Given the description of an element on the screen output the (x, y) to click on. 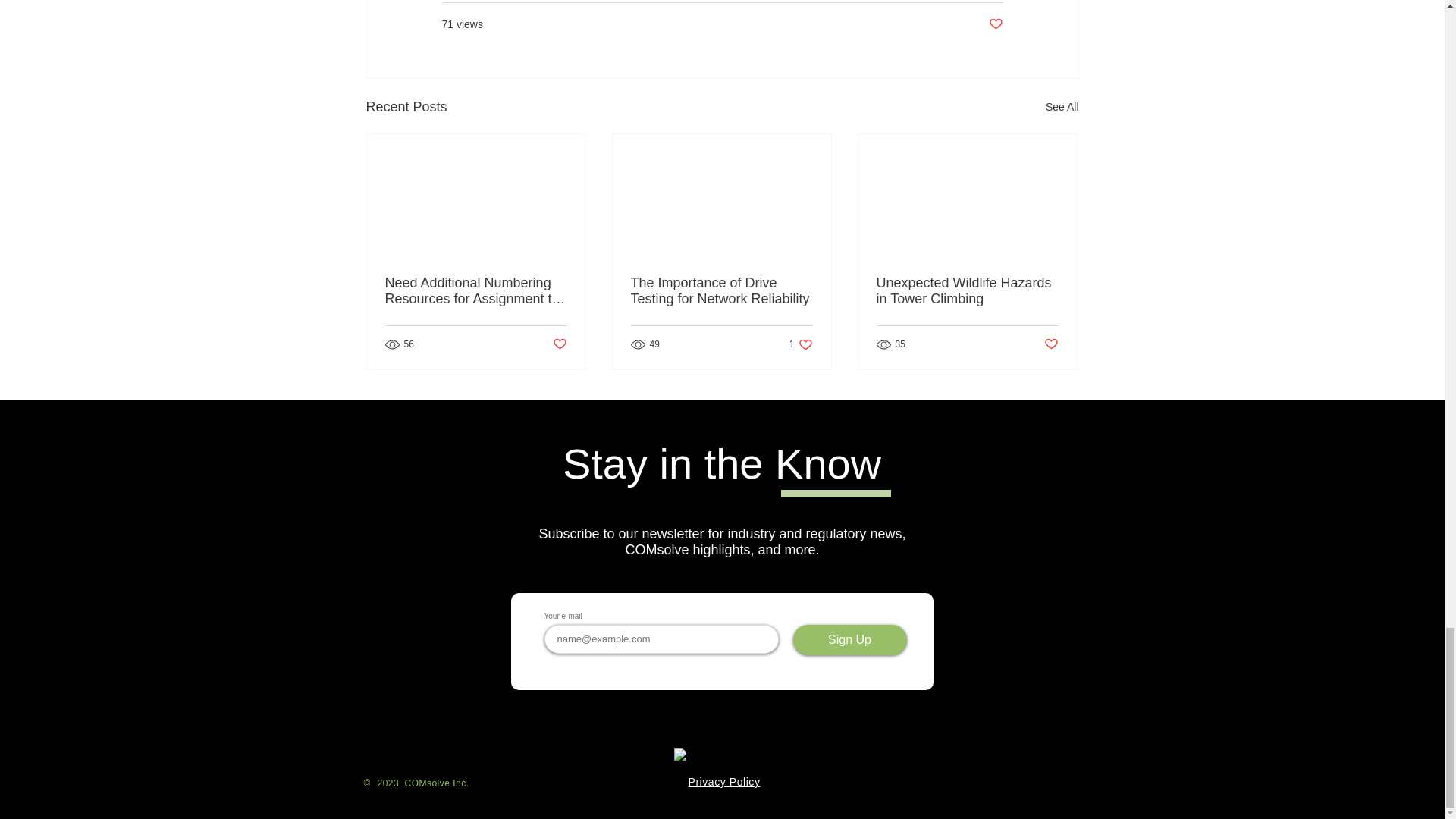
The Importance of Drive Testing for Network Reliability (721, 291)
See All (1061, 106)
Post not marked as liked (995, 24)
Post not marked as liked (558, 344)
